Given the description of an element on the screen output the (x, y) to click on. 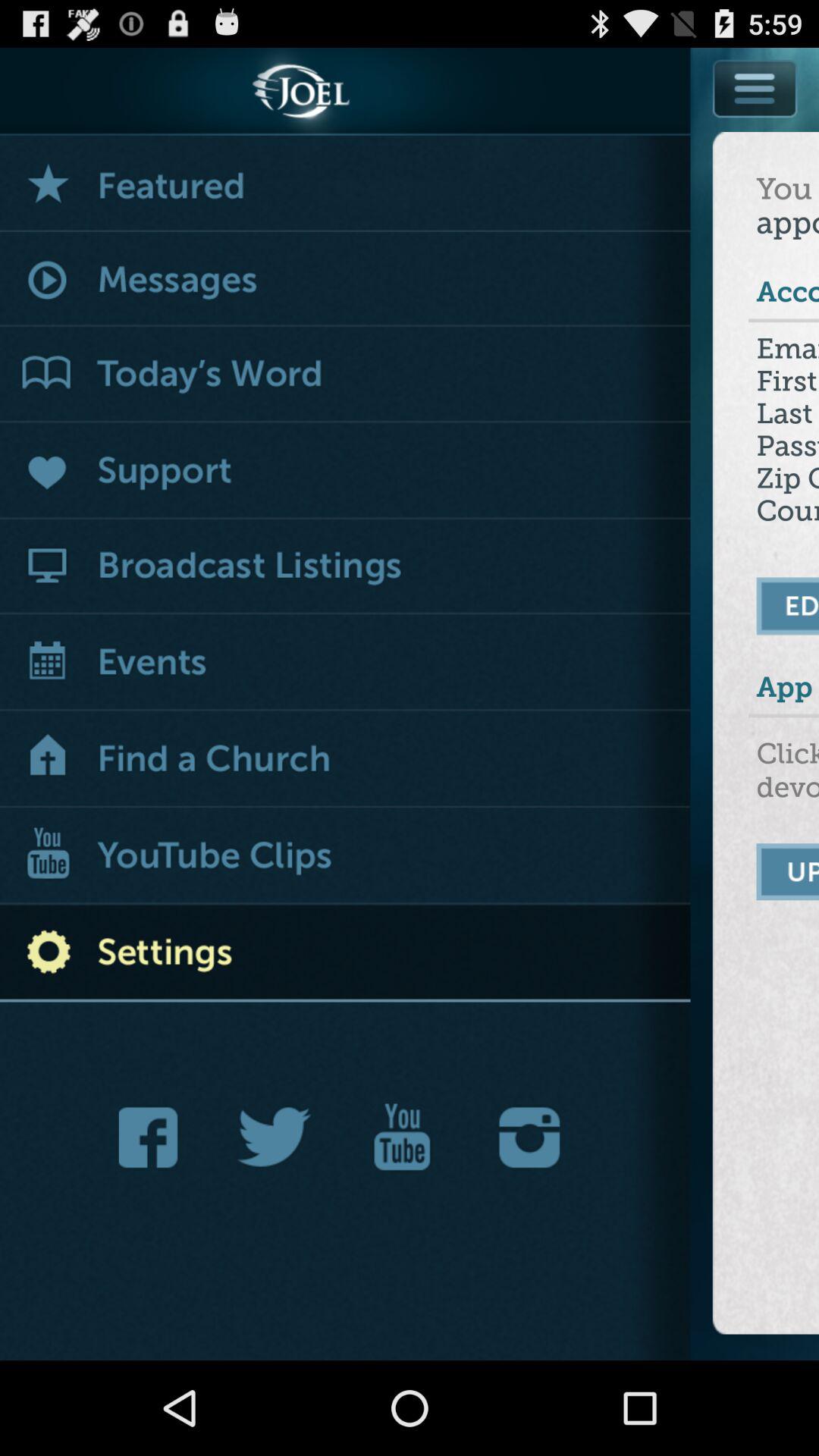
menu options list (755, 122)
